Given the description of an element on the screen output the (x, y) to click on. 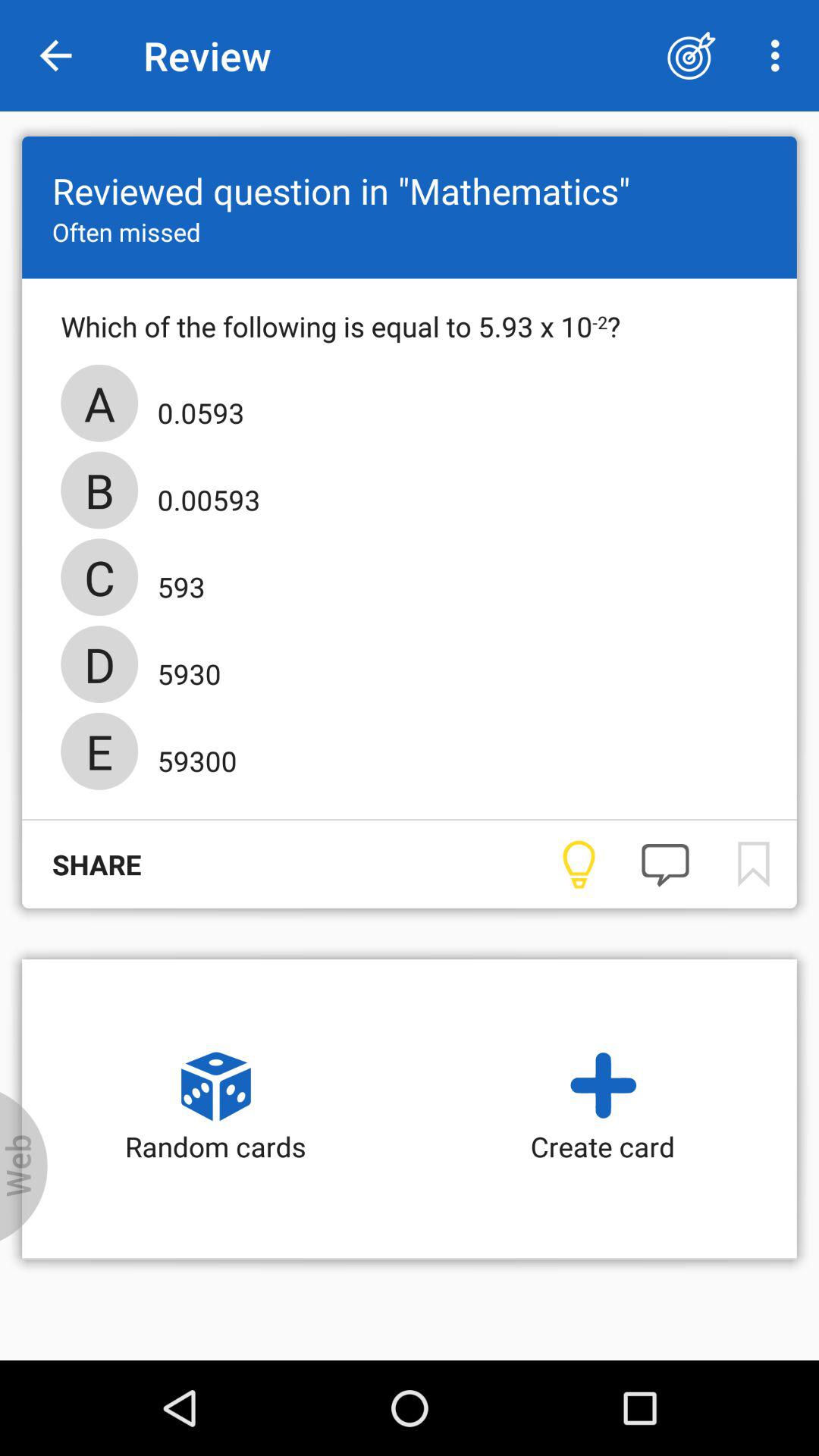
go to web (23, 1166)
